Given the description of an element on the screen output the (x, y) to click on. 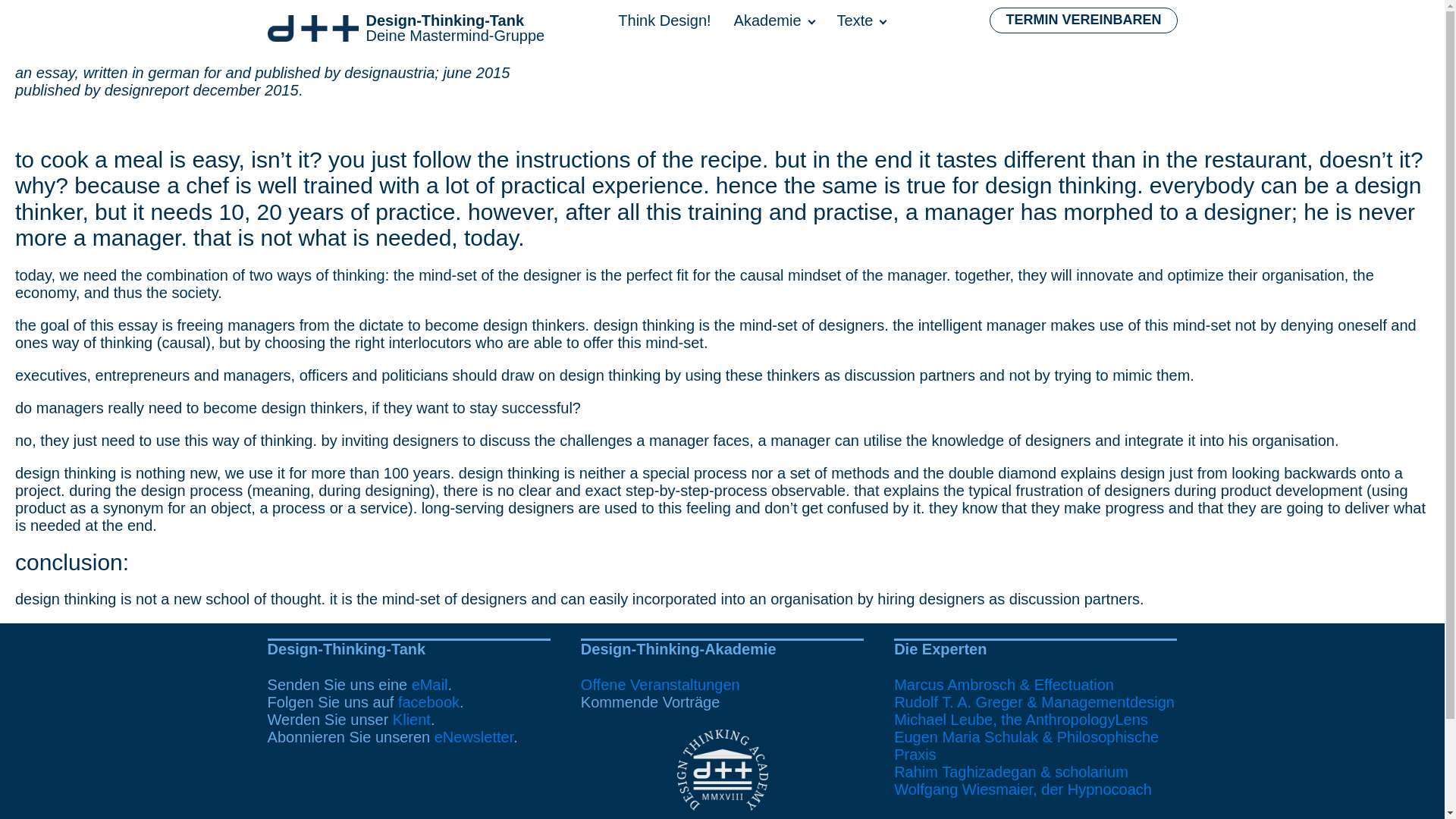
Think Design! (675, 28)
Offene Veranstaltungen (659, 684)
Klient (411, 719)
TERMIN VEREINBAREN (1083, 19)
facebook (428, 701)
Akademie (785, 28)
eMail (430, 684)
Texte (405, 28)
Wolfgang Wiesmaier, der Hypnocoach (872, 28)
